Given the description of an element on the screen output the (x, y) to click on. 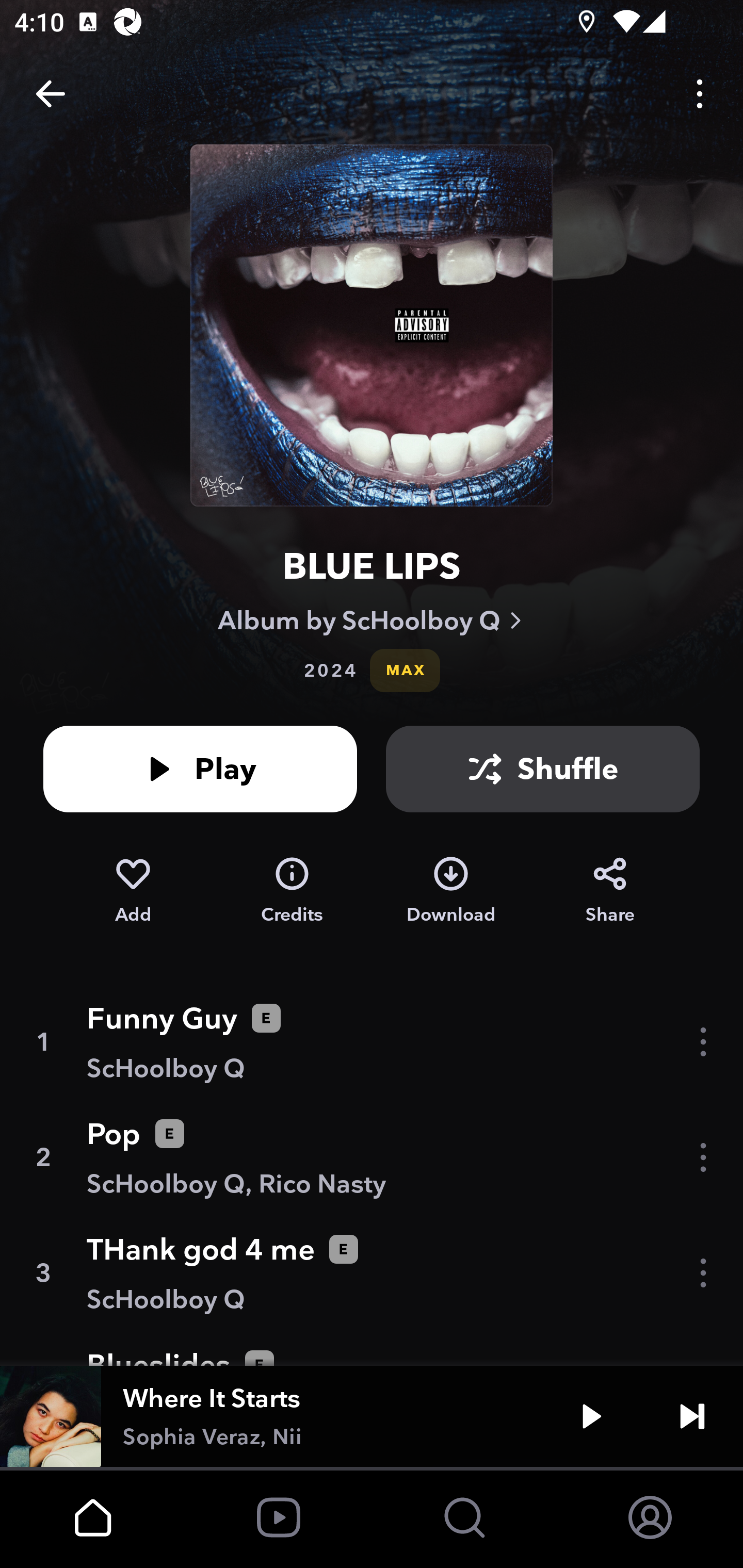
Options (699, 93)
BLUE LIPS (371, 565)
Album by ScHoolboy Q (371, 619)
Play (200, 768)
Shuffle (542, 768)
Add to My Collection Add (132, 890)
Credits (291, 890)
Download (450, 890)
Share (609, 890)
1 Funny Guy ScHoolboy Q (371, 1041)
2 Pop ScHoolboy Q, Rico Nasty (371, 1157)
3 THank god 4 me ScHoolboy Q (371, 1273)
Where It Starts Sophia Veraz, Nii Play (371, 1416)
Play (590, 1416)
